Given the description of an element on the screen output the (x, y) to click on. 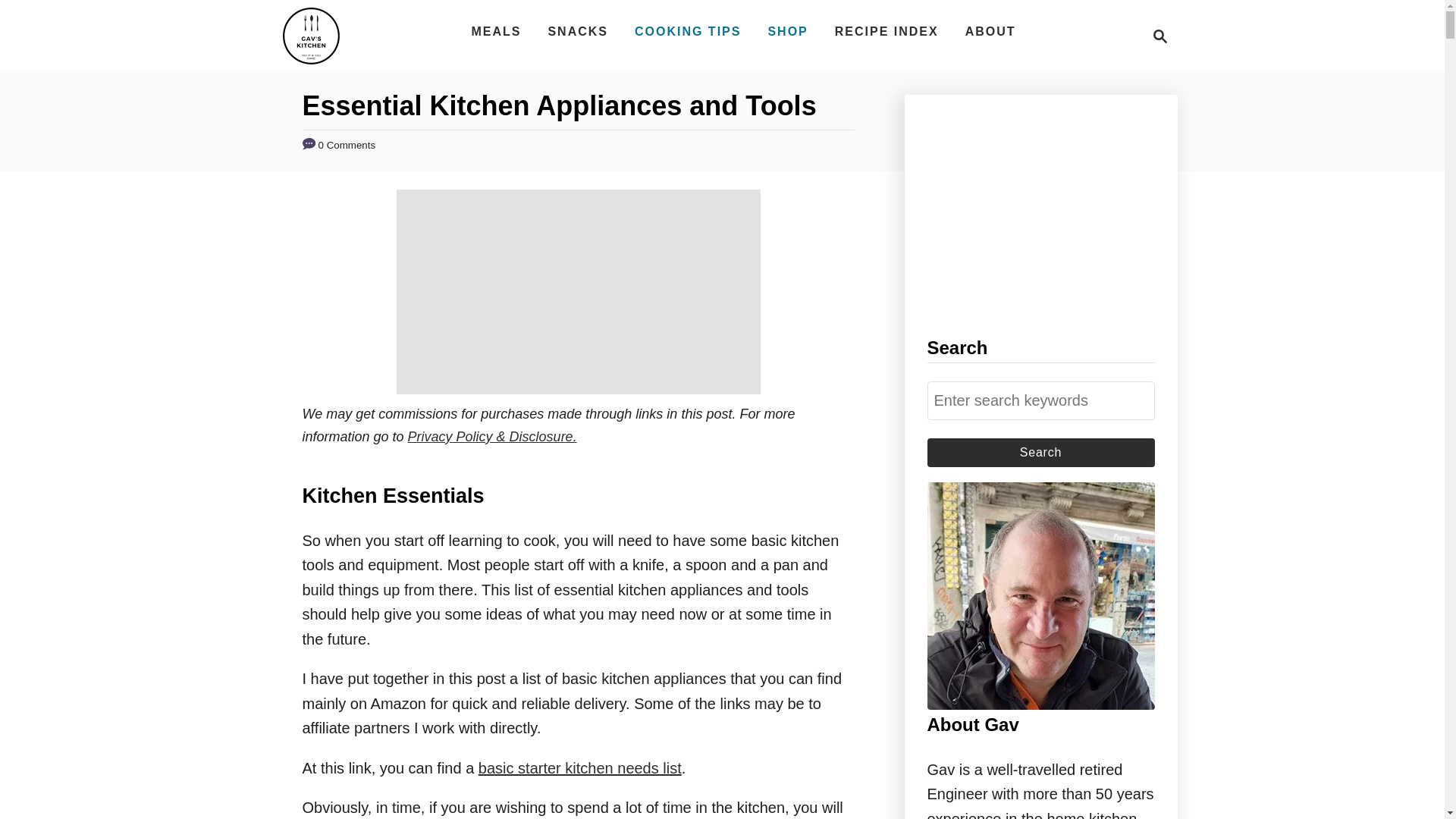
MEALS (495, 31)
Magnifying Glass (1160, 36)
Search (1155, 36)
SNACKS (1040, 452)
SHOP (577, 31)
Gav's Kitchen (787, 31)
basic starter kitchen needs list (310, 35)
RECIPE INDEX (580, 768)
Search (886, 31)
Skip to Content (1040, 452)
Search for: (990, 31)
COOKING TIPS (1040, 400)
